Given the description of an element on the screen output the (x, y) to click on. 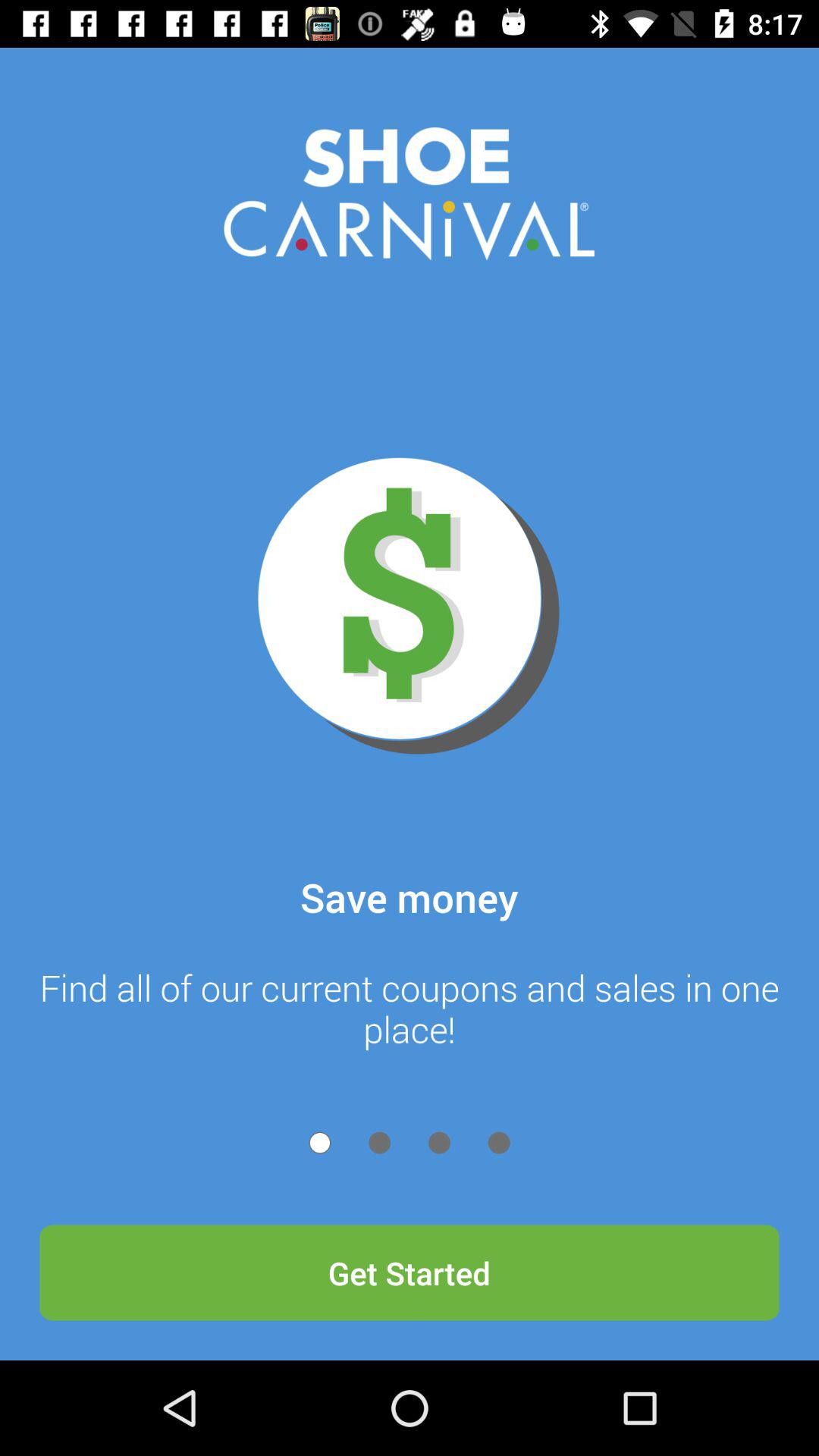
flip to get started icon (409, 1272)
